Given the description of an element on the screen output the (x, y) to click on. 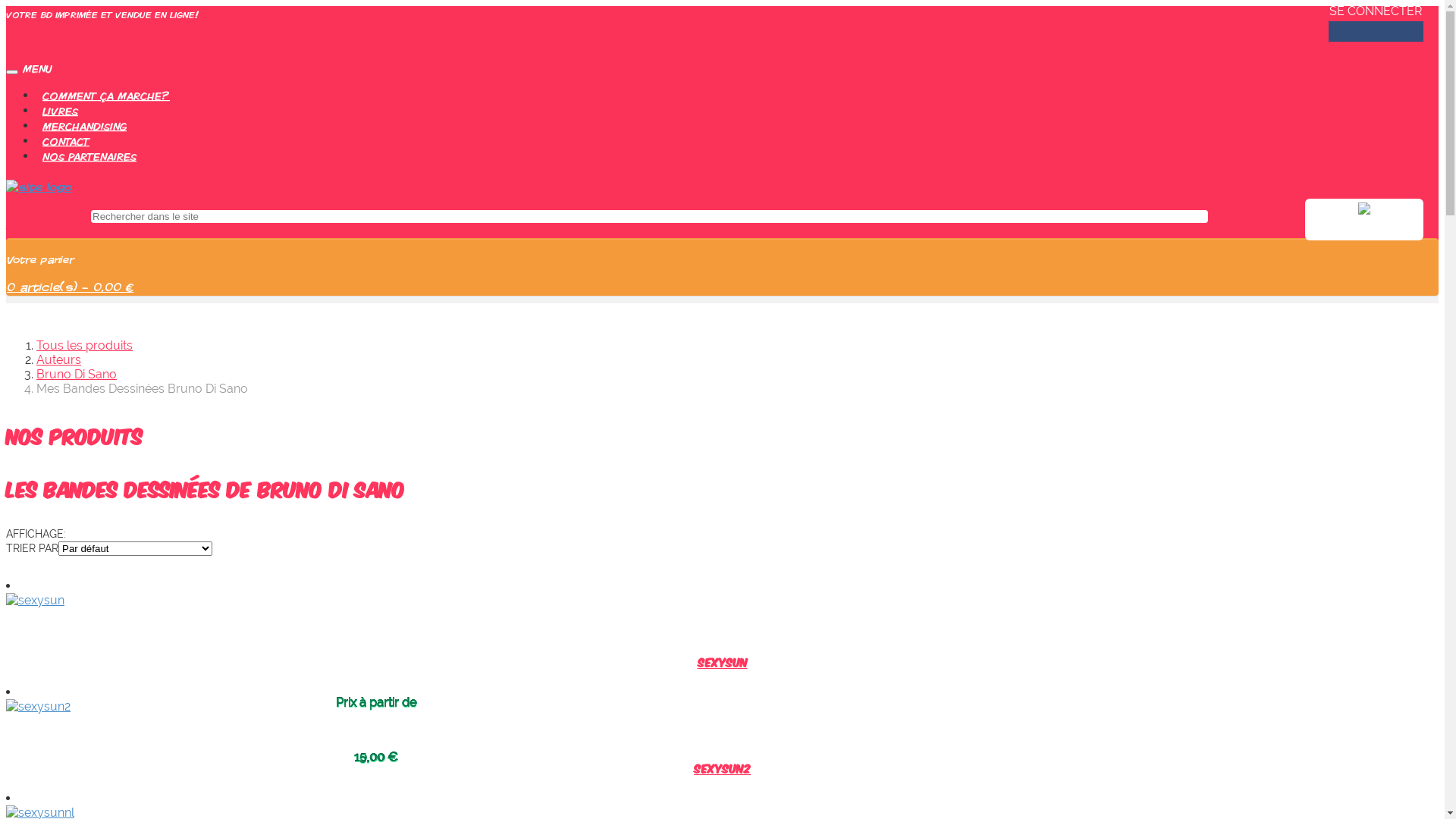
SEXYSUN Element type: text (722, 661)
SE CONNECTER Element type: text (1375, 10)
Tous les produits Element type: text (84, 345)
sexysun2 Element type: hover (38, 706)
sexysun Element type: hover (35, 600)
SEXYSUN2 Element type: text (721, 767)
Auteurs Element type: text (58, 359)
LIVRES Element type: text (60, 110)
CONTACT Element type: text (65, 140)
Bruno Di Sano Element type: text (76, 374)
Toggle navigation Element type: text (12, 71)
NOS PARTENAIRES Element type: text (89, 155)
MERCHANDISING Element type: text (84, 125)
